Given the description of an element on the screen output the (x, y) to click on. 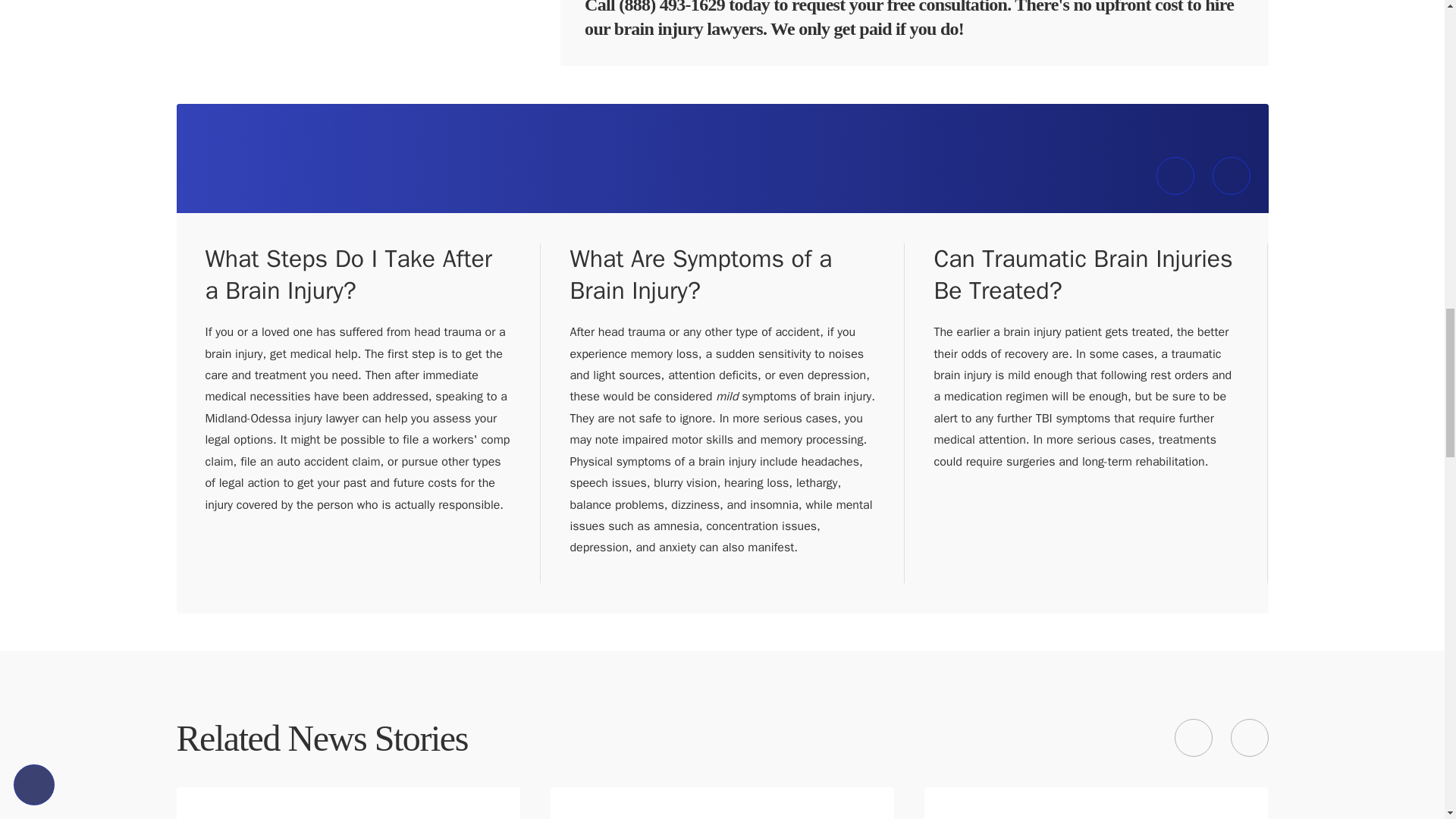
View previous item (1174, 175)
View next item (1231, 175)
View next item (1249, 737)
View previous item (1192, 737)
